Given the description of an element on the screen output the (x, y) to click on. 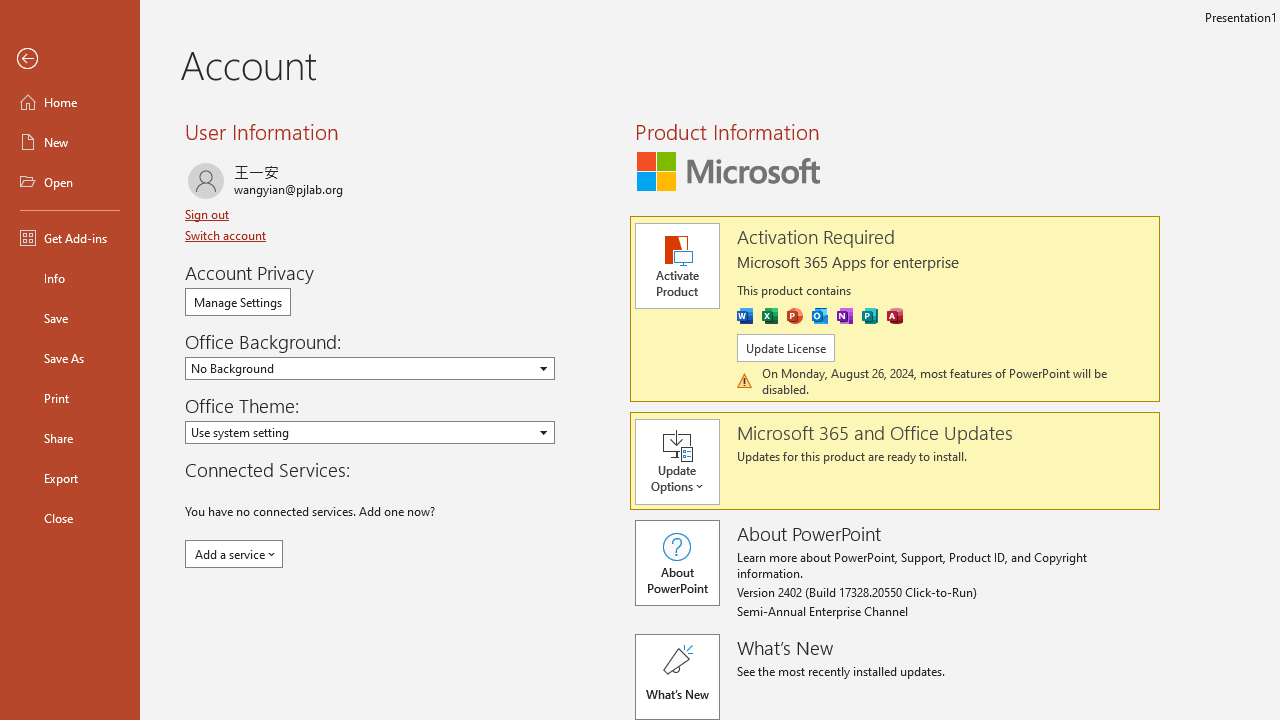
About PowerPoint (676, 562)
Update Options (685, 461)
OneNote (844, 316)
Manage Settings (237, 302)
Get Add-ins (69, 237)
